Given the description of an element on the screen output the (x, y) to click on. 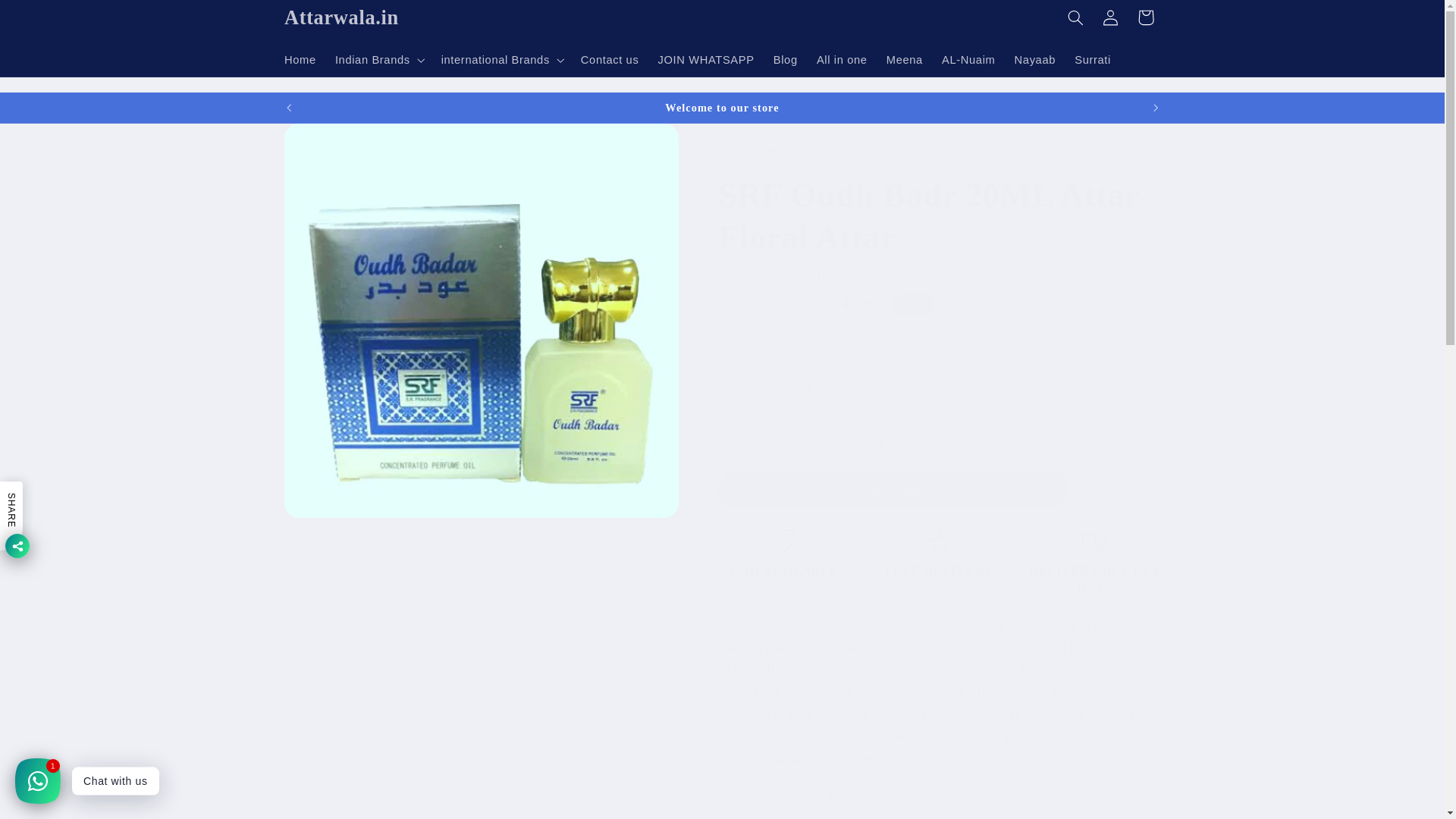
Skip to content (48, 18)
1 (771, 386)
Home (299, 59)
Attarwala.in (341, 17)
